Given the description of an element on the screen output the (x, y) to click on. 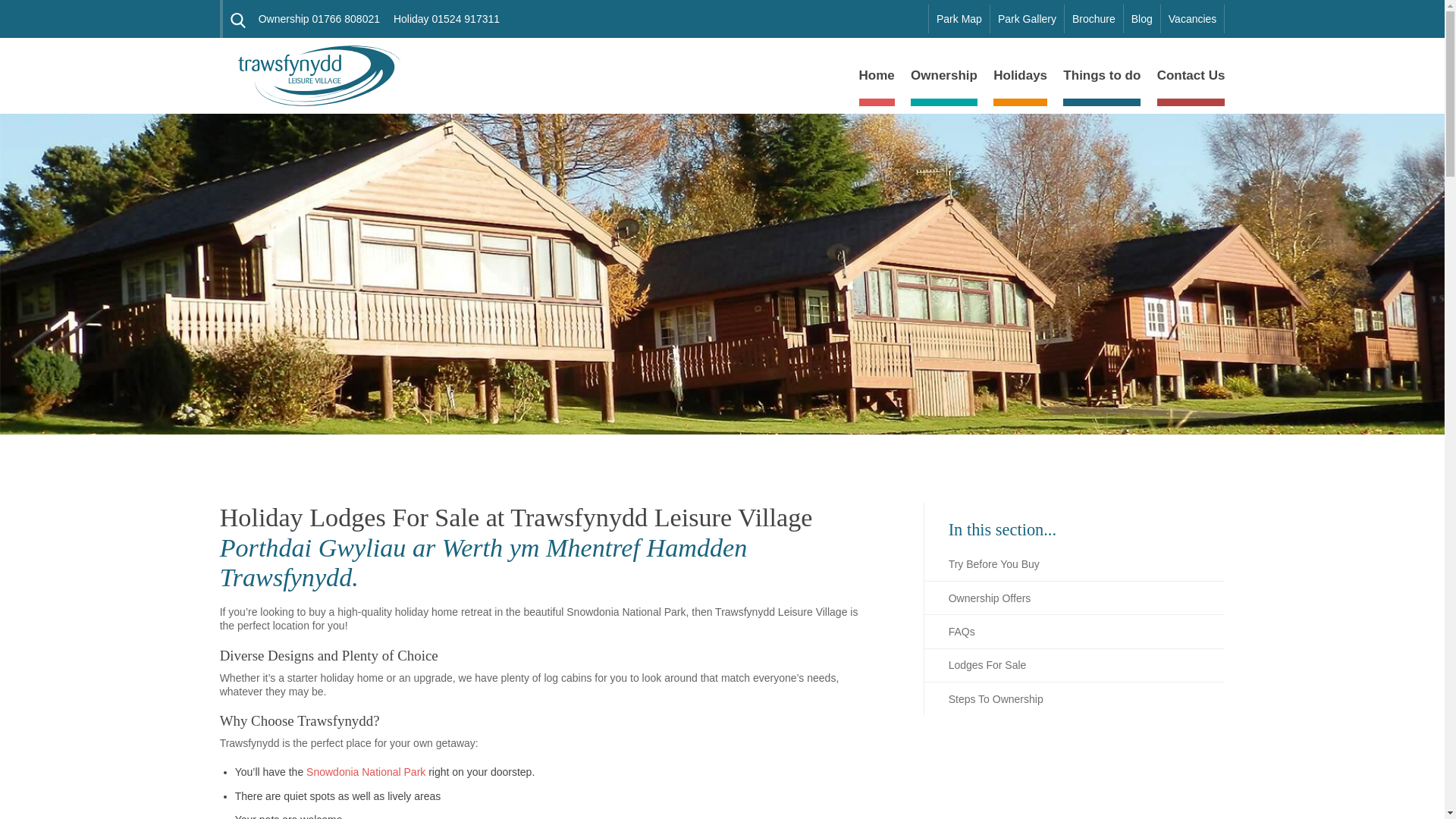
Park Map (950, 18)
Park Gallery (1019, 18)
Brochure (1086, 18)
Blog (1134, 18)
